Given the description of an element on the screen output the (x, y) to click on. 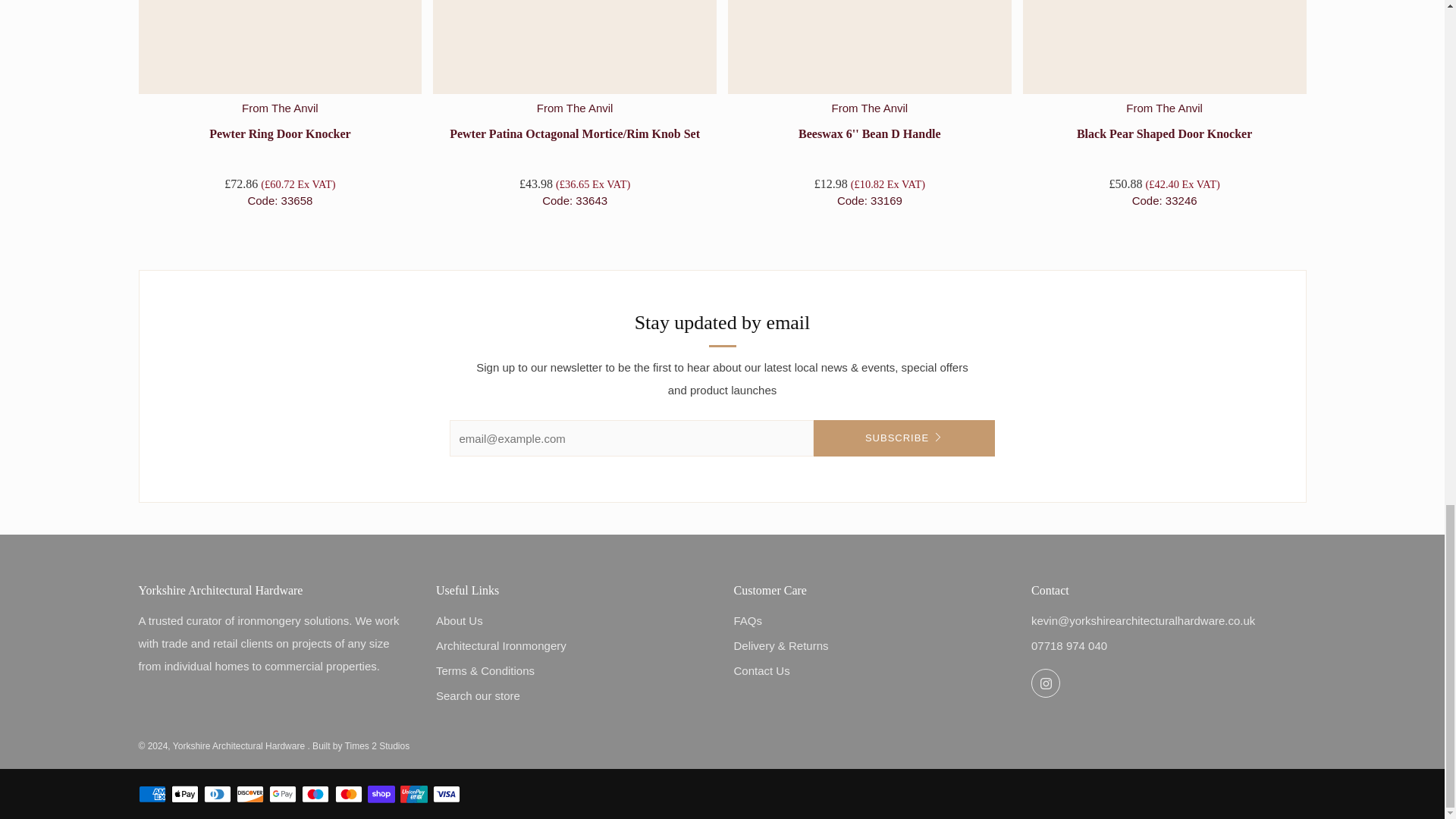
Black Pear Shaped Door Knocker (1164, 46)
Pewter Ring Door Knocker (280, 46)
Pewter Ring Door Knocker (280, 153)
Beeswax 6'' Bean D Handle (869, 46)
Black Pear Shaped Door Knocker (1164, 153)
Beeswax 6'' Bean D Handle (869, 153)
